Given the description of an element on the screen output the (x, y) to click on. 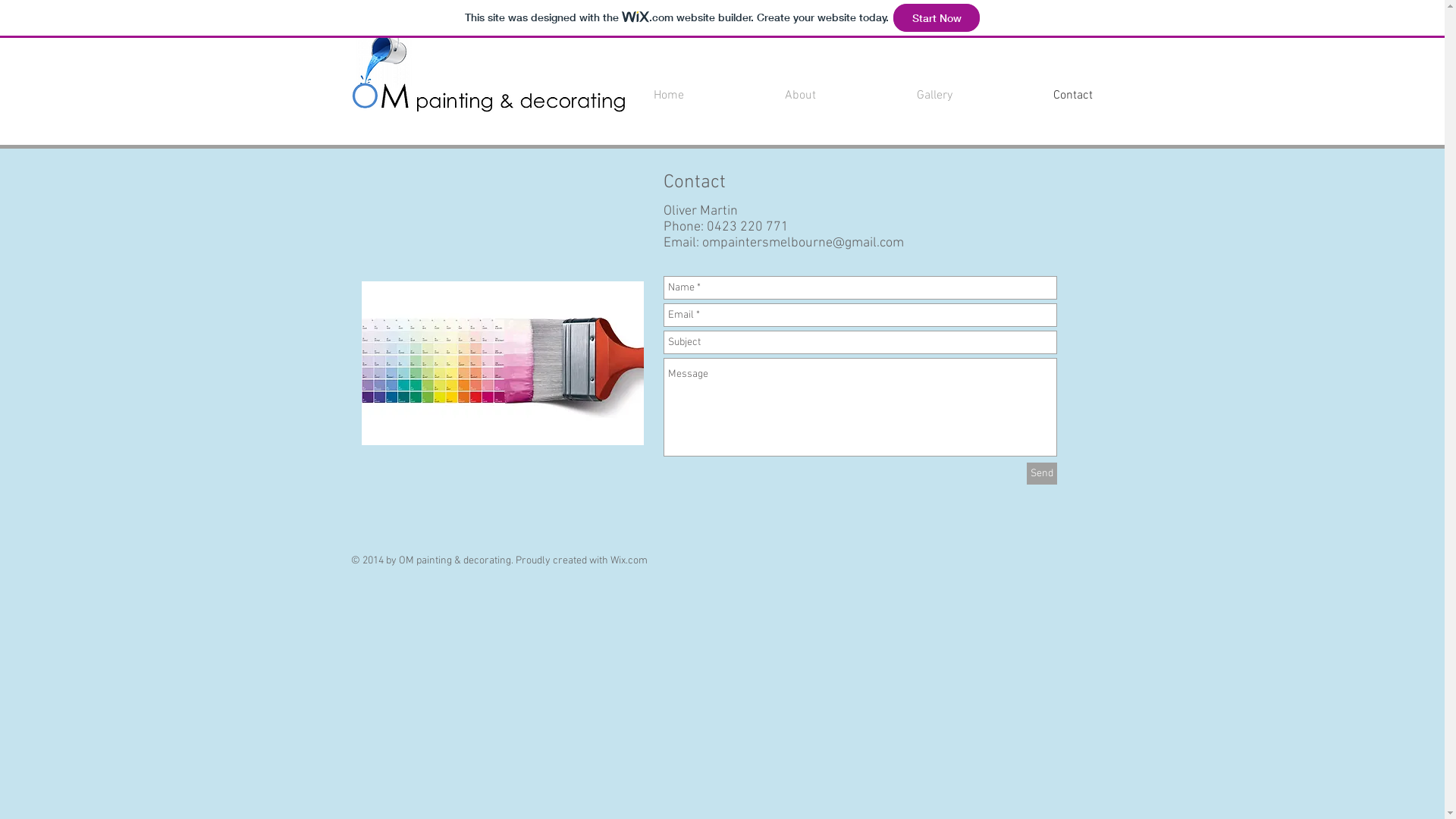
Contact Element type: text (1033, 95)
About Element type: text (760, 95)
Send Element type: text (1041, 473)
Gallery Element type: text (894, 95)
Home Element type: text (629, 95)
Wix.com Element type: text (627, 560)
paint swatches.jpg Element type: hover (501, 362)
ompaintersmelbourne@gmail.com Element type: text (802, 243)
